Given the description of an element on the screen output the (x, y) to click on. 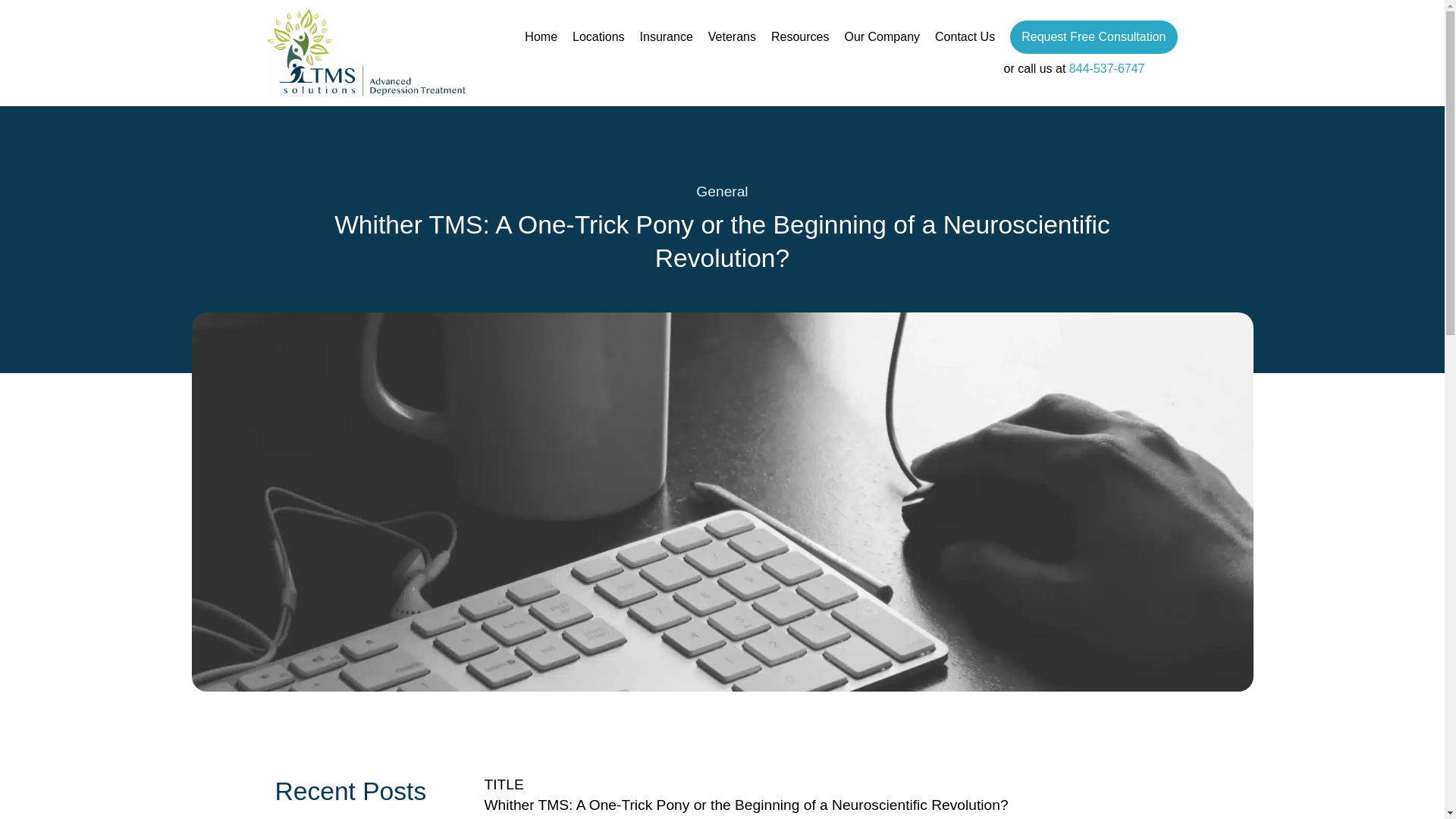
Veterans (731, 36)
844-537-6747 (1106, 68)
Insurance (666, 36)
Resources (799, 36)
Locations (598, 36)
Our Company (882, 36)
General (721, 191)
Contact Us (964, 36)
Request Free Consultation (1093, 37)
